Given the description of an element on the screen output the (x, y) to click on. 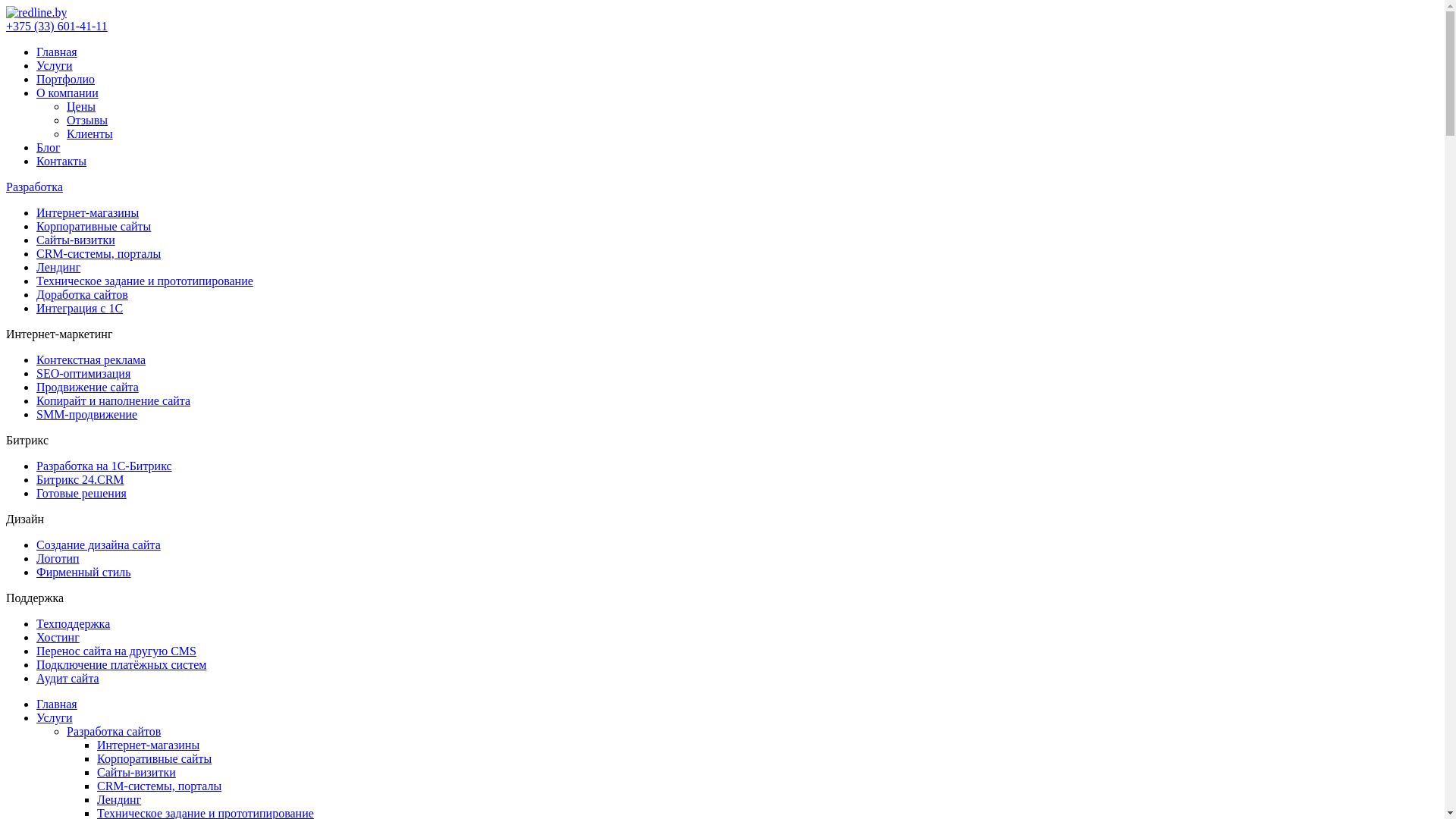
+375 (33) 601-41-11 Element type: text (56, 25)
